Given the description of an element on the screen output the (x, y) to click on. 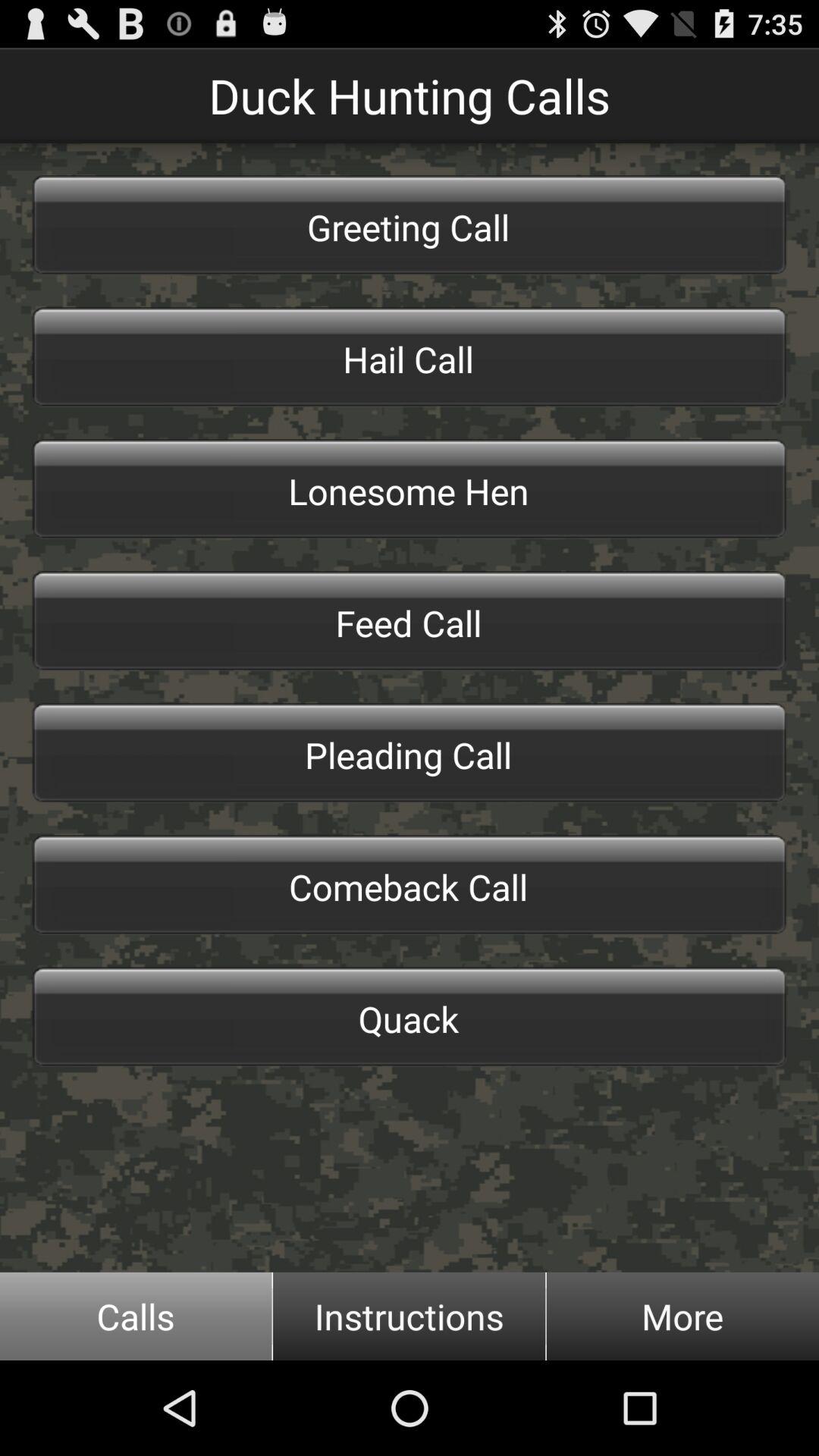
turn off the quack button (409, 1016)
